Given the description of an element on the screen output the (x, y) to click on. 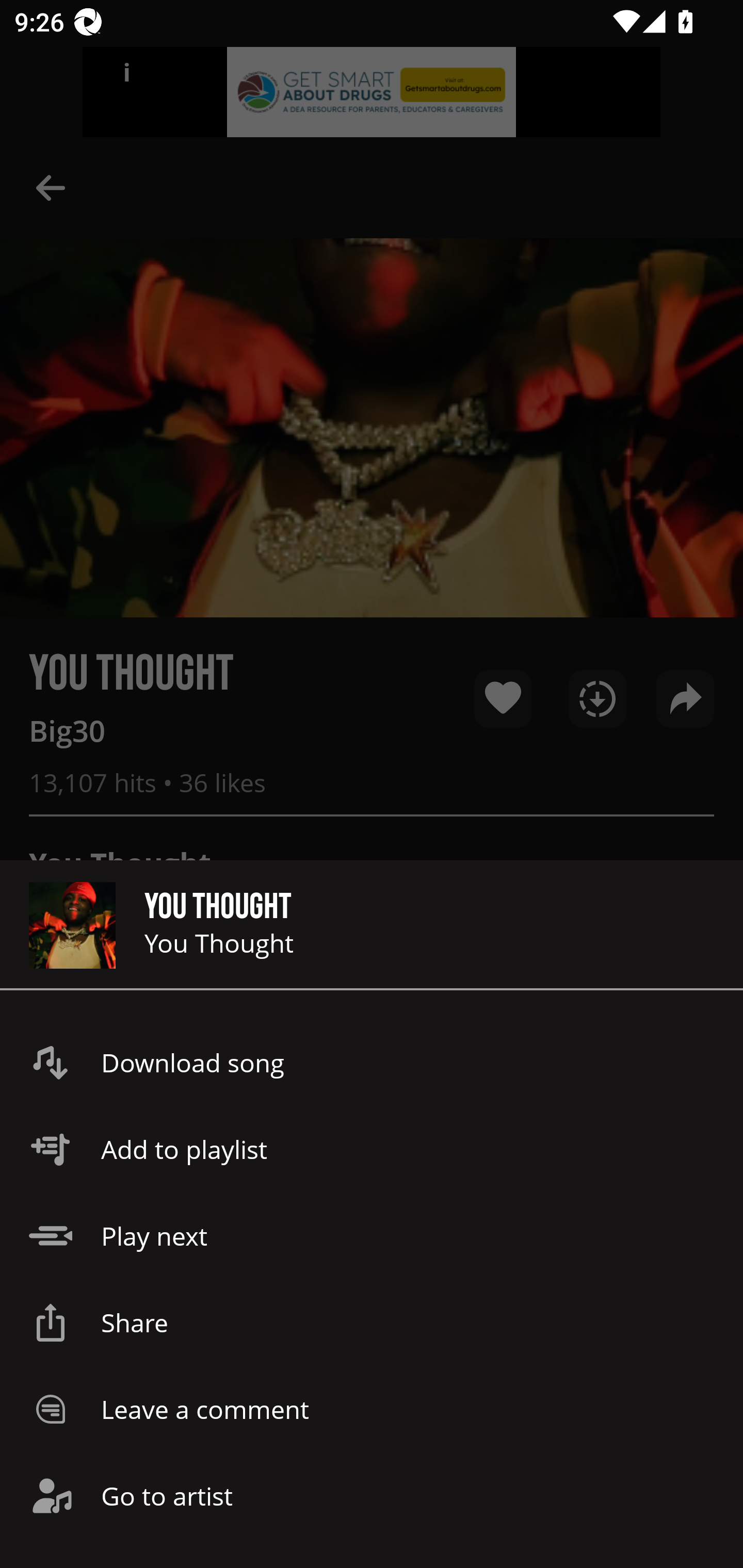
Download song (371, 1062)
Add to playlist (371, 1149)
Play next (371, 1236)
Share (371, 1322)
Leave a comment (371, 1408)
Go to artist (371, 1495)
